Given the description of an element on the screen output the (x, y) to click on. 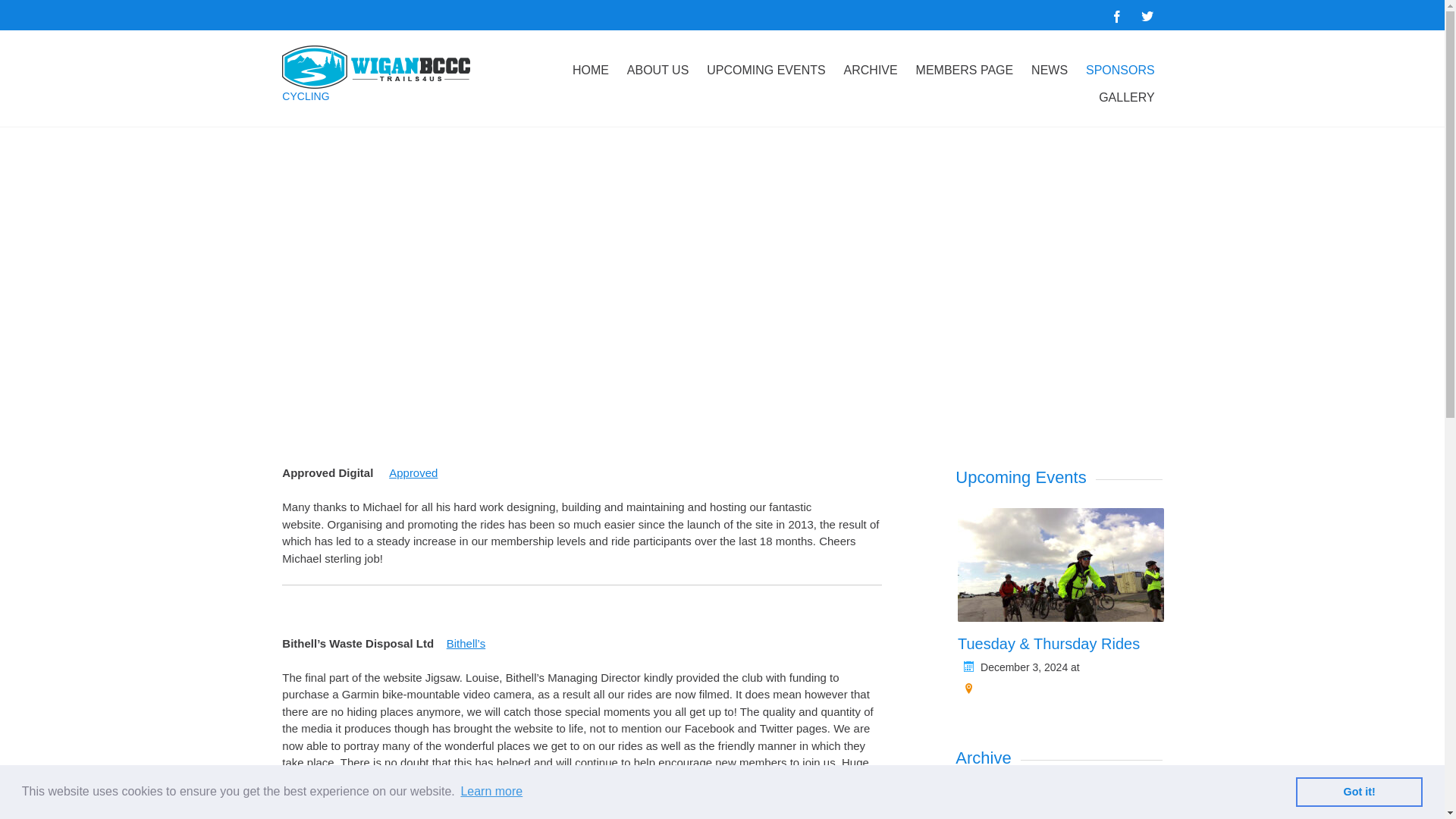
Wigan Borough Community Cycling Club - Cycling (384, 66)
NEWS (1049, 70)
Learn more (491, 791)
HOME (589, 70)
SPONSORS (1119, 70)
ARCHIVE (870, 70)
ABOUT US (658, 70)
GALLERY (1125, 97)
Twitter (1146, 15)
Approved (413, 472)
